Given the description of an element on the screen output the (x, y) to click on. 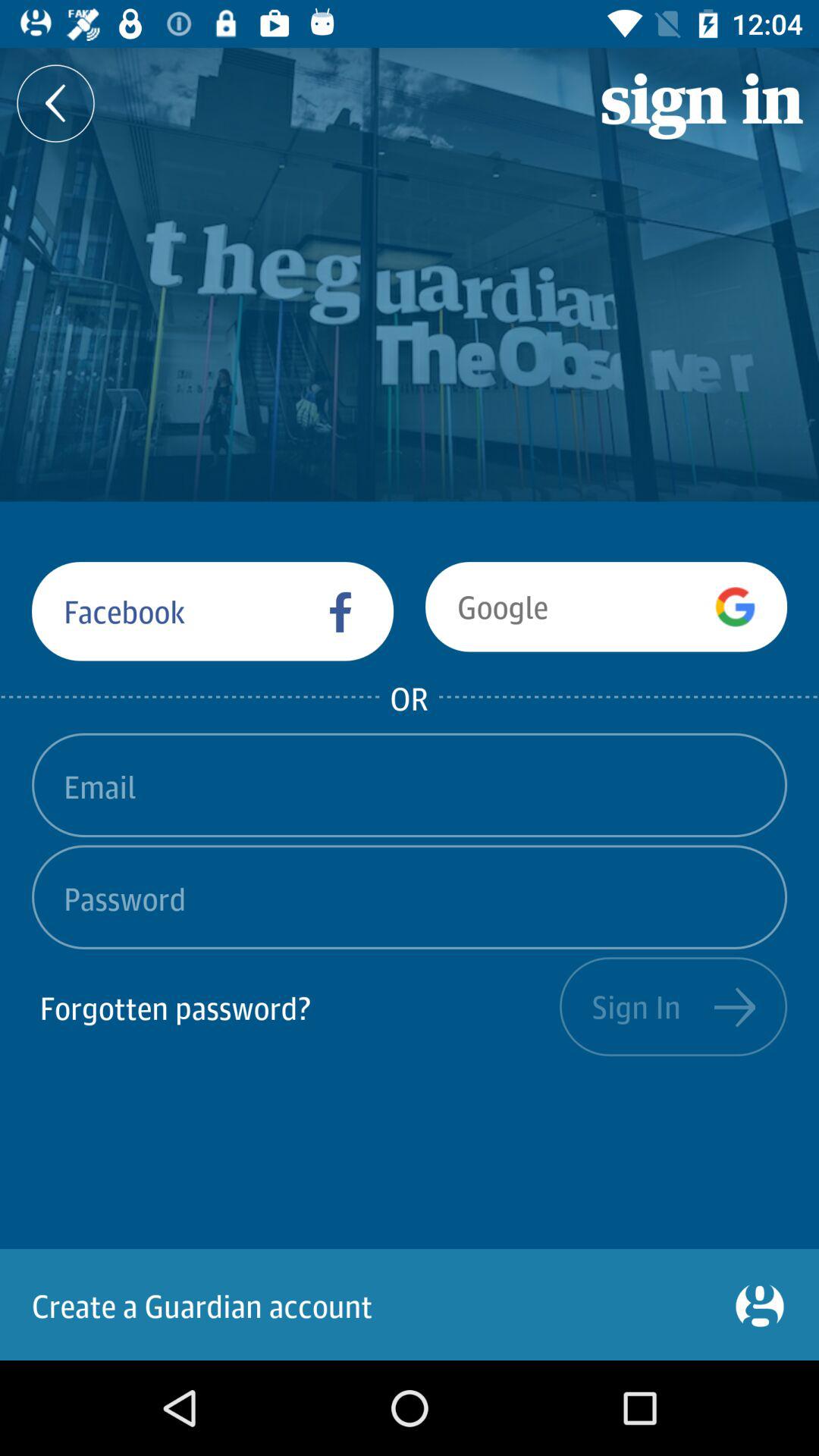
enter password (409, 897)
